Given the description of an element on the screen output the (x, y) to click on. 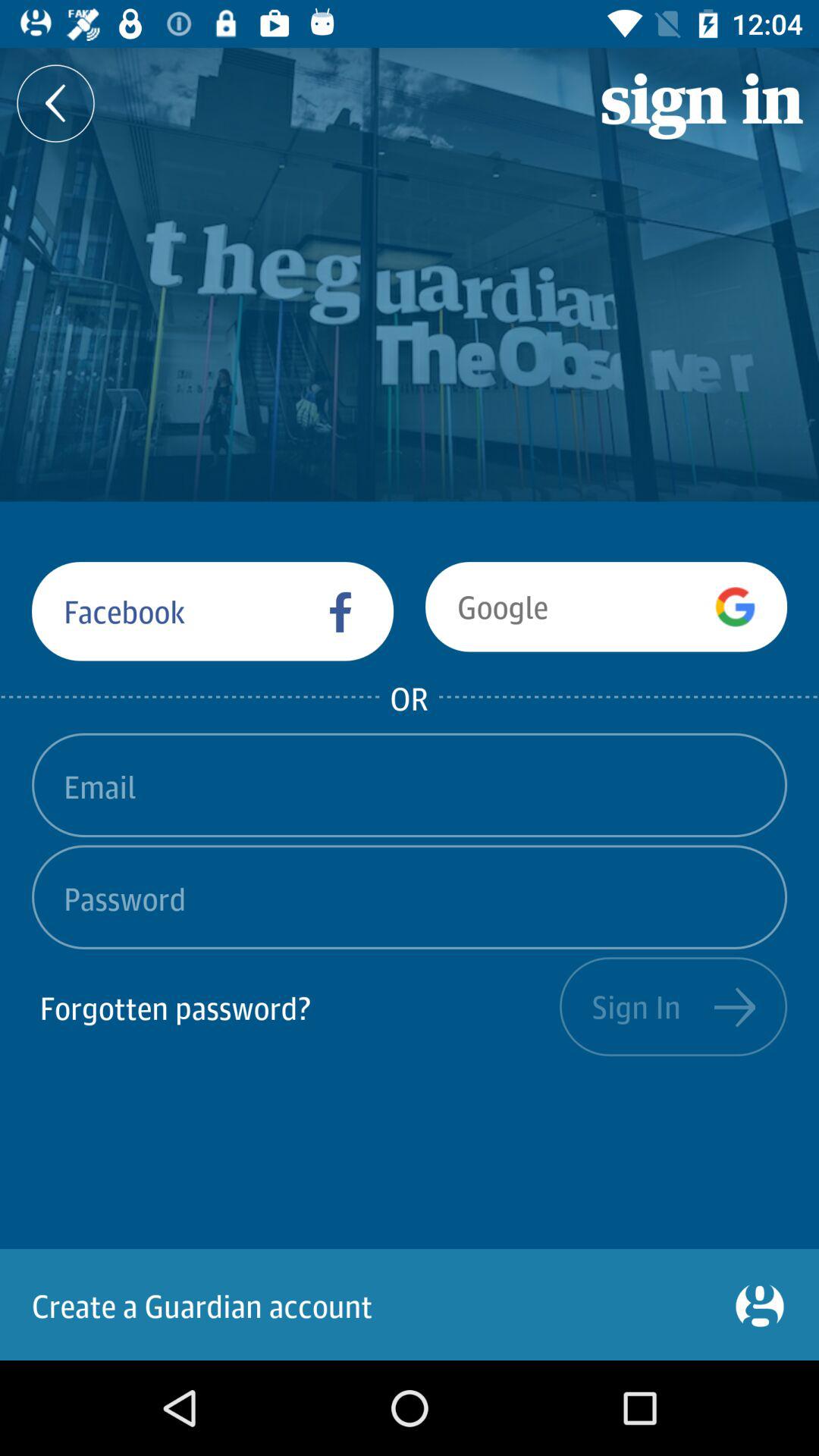
enter password (409, 897)
